Given the description of an element on the screen output the (x, y) to click on. 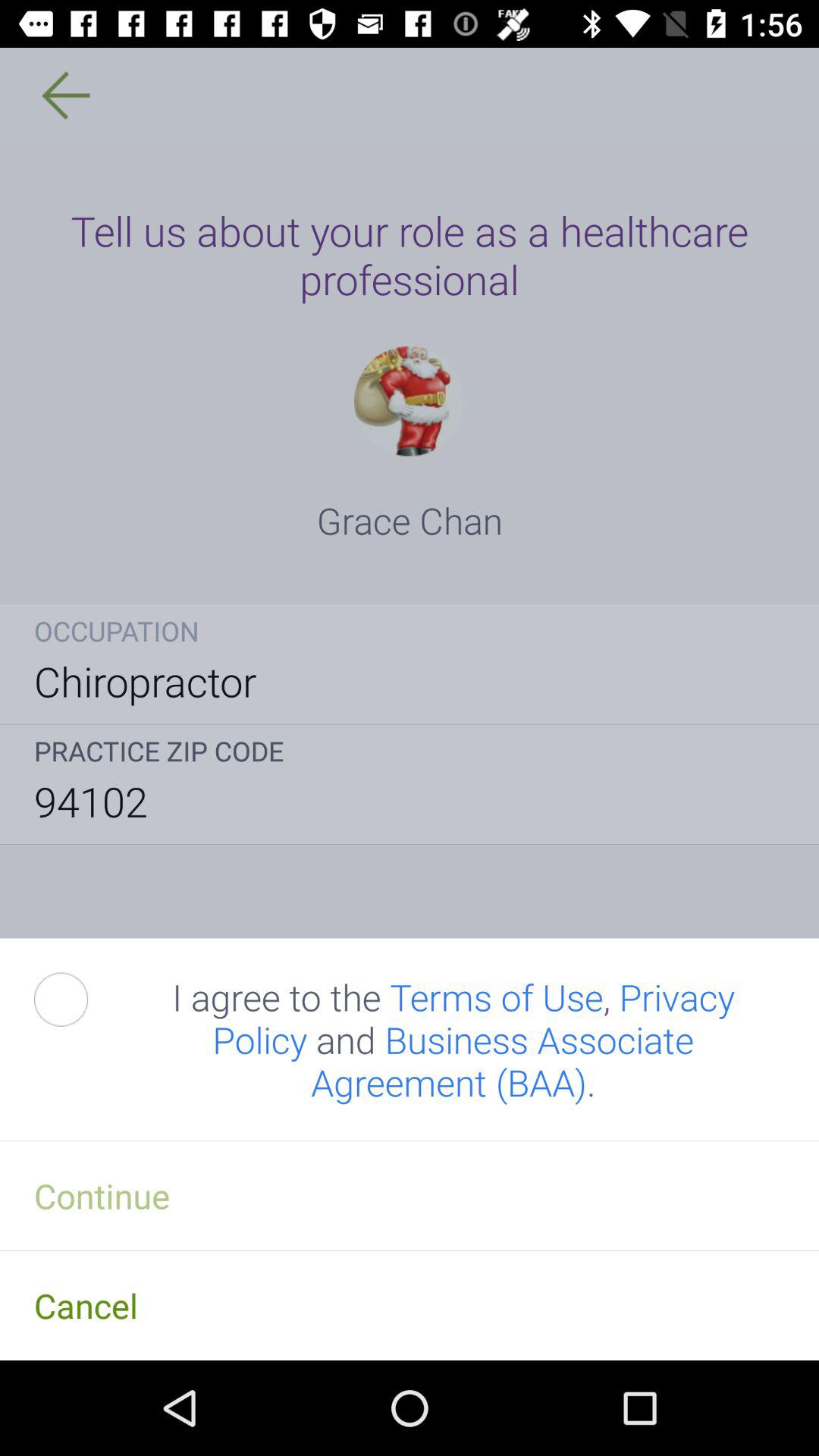
turn off cancel (409, 1305)
